Given the description of an element on the screen output the (x, y) to click on. 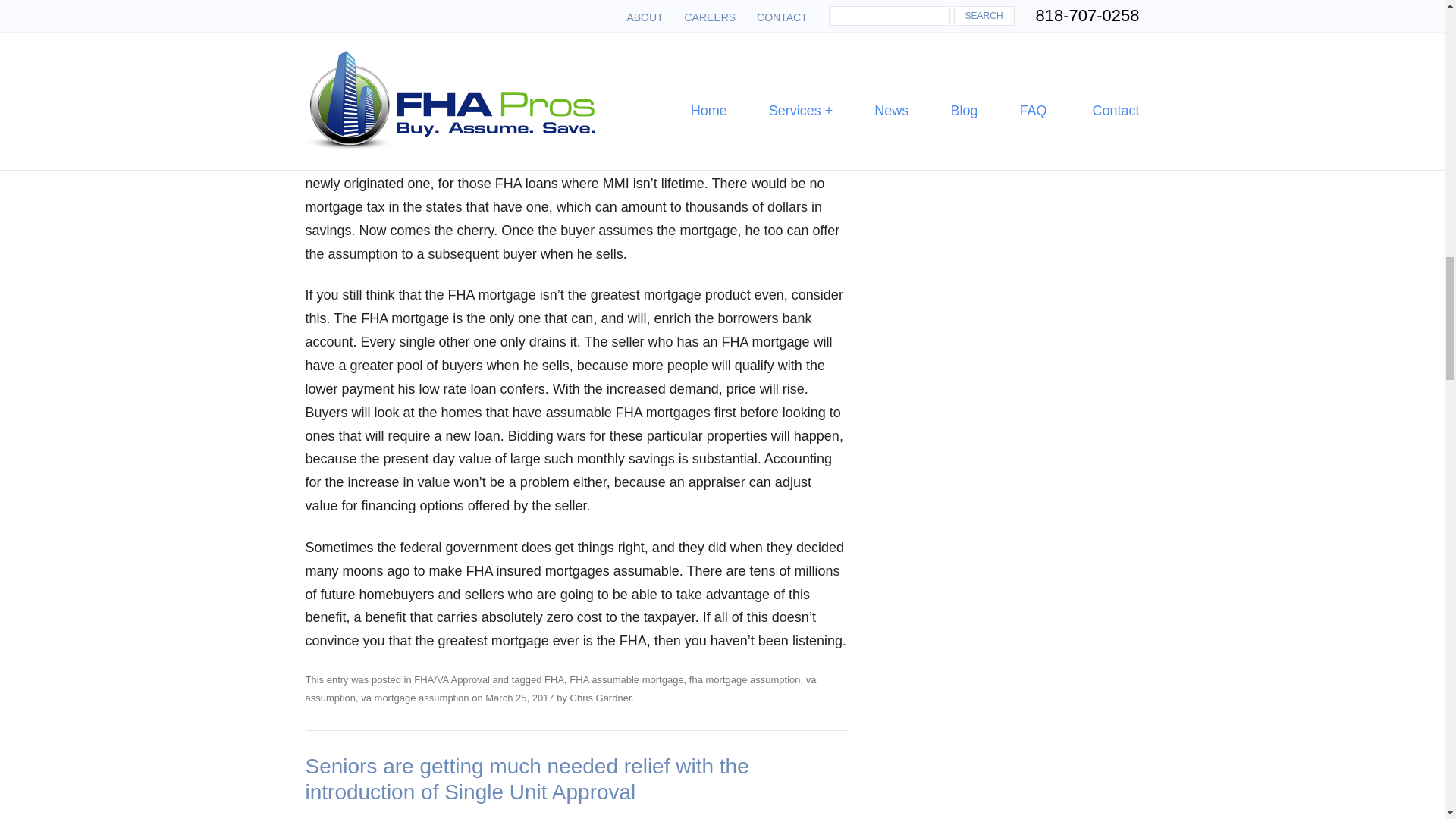
FHA (554, 679)
2:28 am (518, 697)
View all posts by Chris Gardner (600, 697)
